Given the description of an element on the screen output the (x, y) to click on. 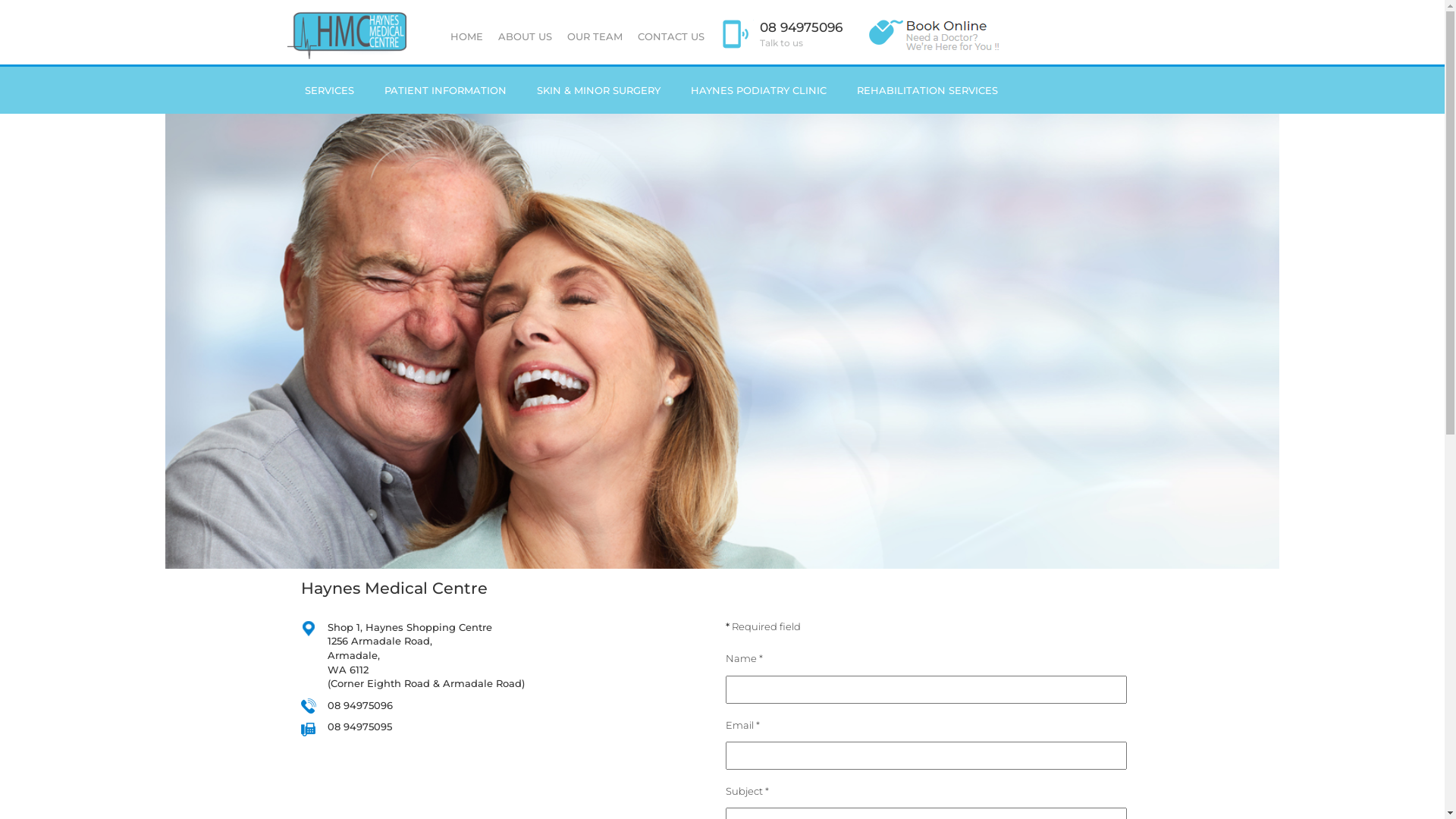
ABOUT US Element type: text (523, 36)
OUR TEAM Element type: text (594, 36)
SKIN & MINOR SURGERY Element type: text (598, 89)
CONTACT US Element type: text (670, 36)
HAYNES PODIATRY CLINIC Element type: text (757, 89)
REHABILITATION SERVICES Element type: text (927, 89)
SERVICES Element type: text (329, 89)
PATIENT INFORMATION Element type: text (444, 89)
HOME Element type: text (466, 36)
